Given the description of an element on the screen output the (x, y) to click on. 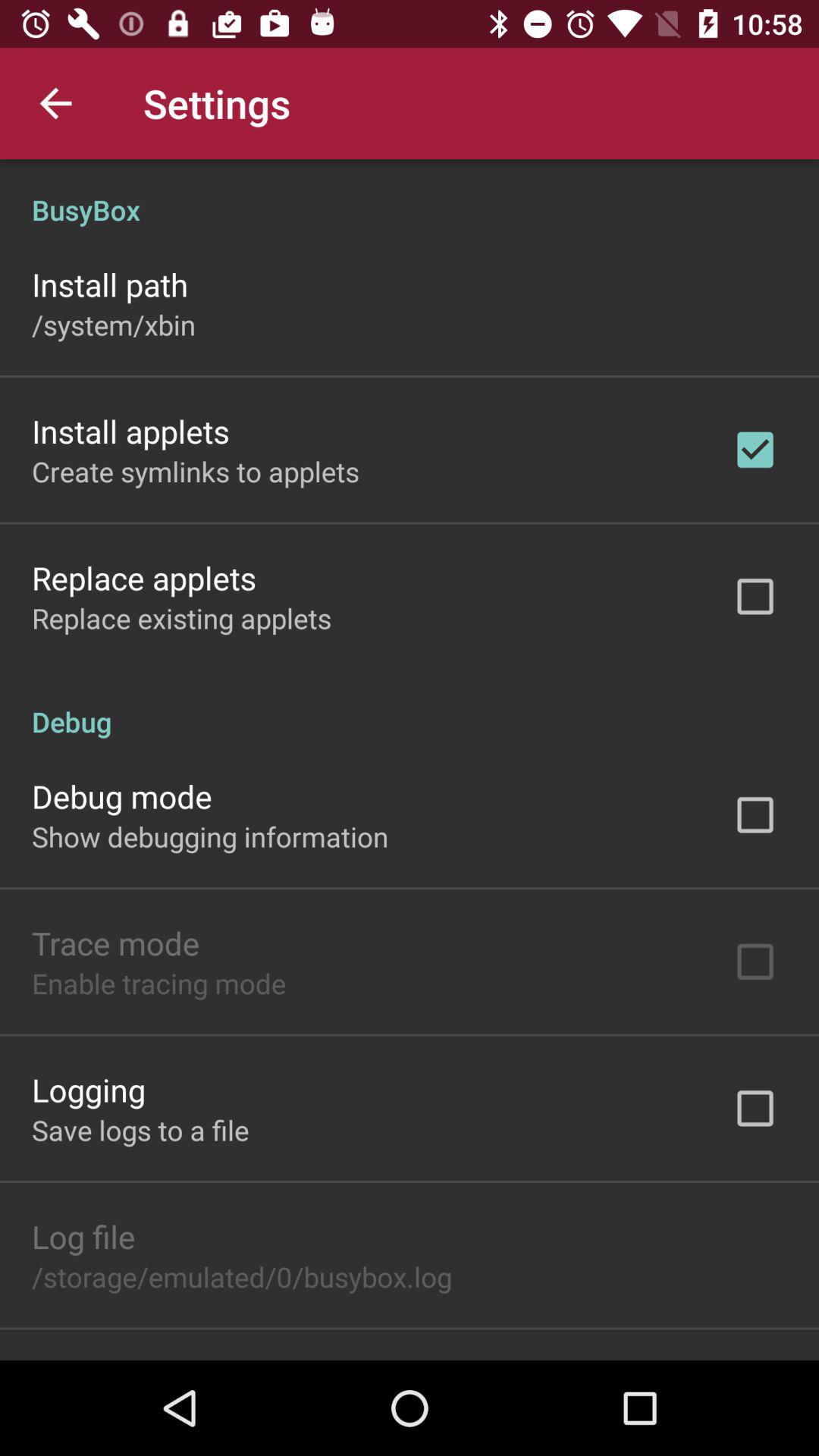
scroll until the show debugging information icon (209, 836)
